Given the description of an element on the screen output the (x, y) to click on. 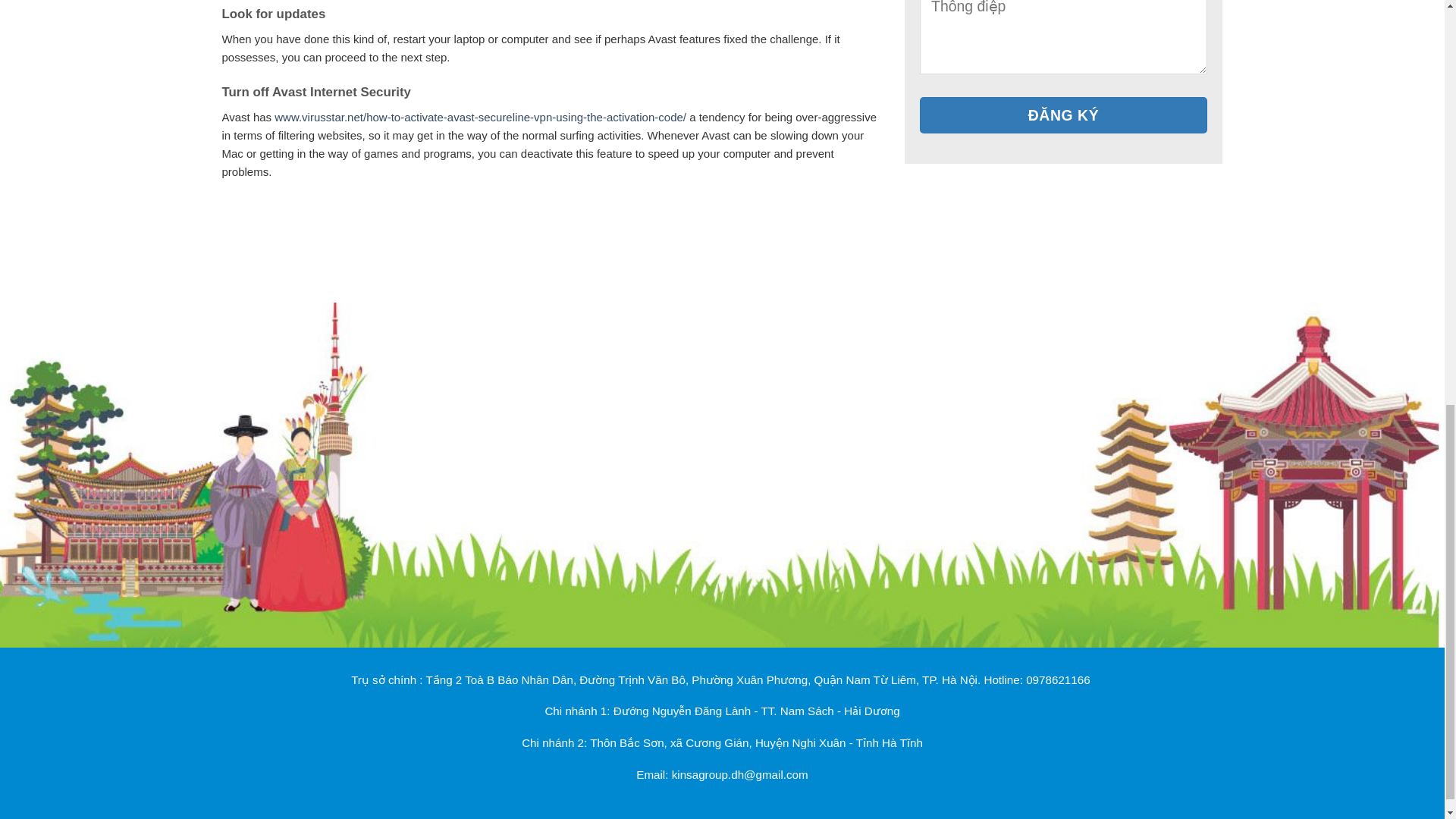
0978621166 (1057, 679)
